Given the description of an element on the screen output the (x, y) to click on. 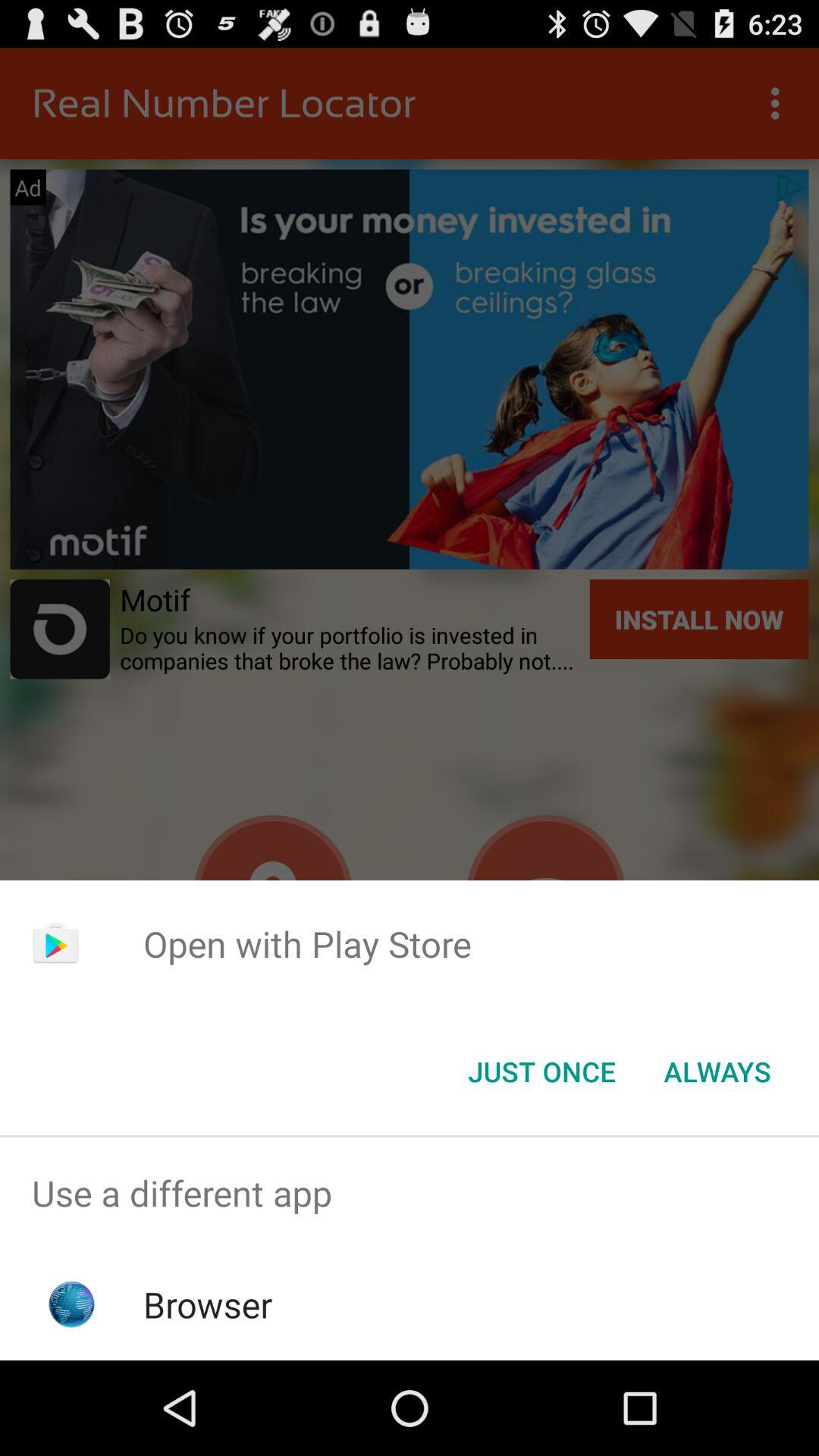
choose item below the open with play item (717, 1071)
